Given the description of an element on the screen output the (x, y) to click on. 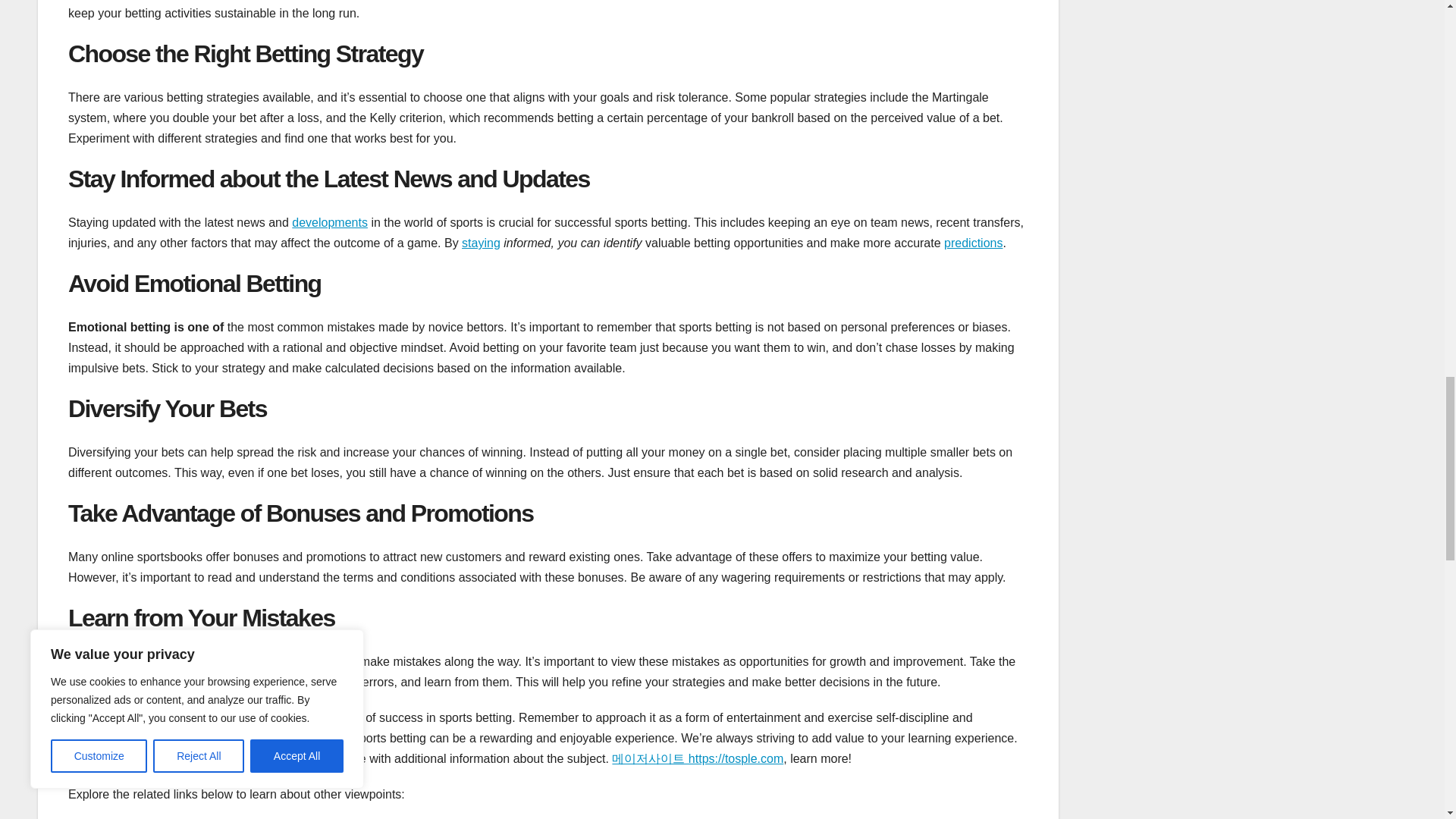
developments (330, 222)
staying (480, 242)
predictions (973, 242)
